Given the description of an element on the screen output the (x, y) to click on. 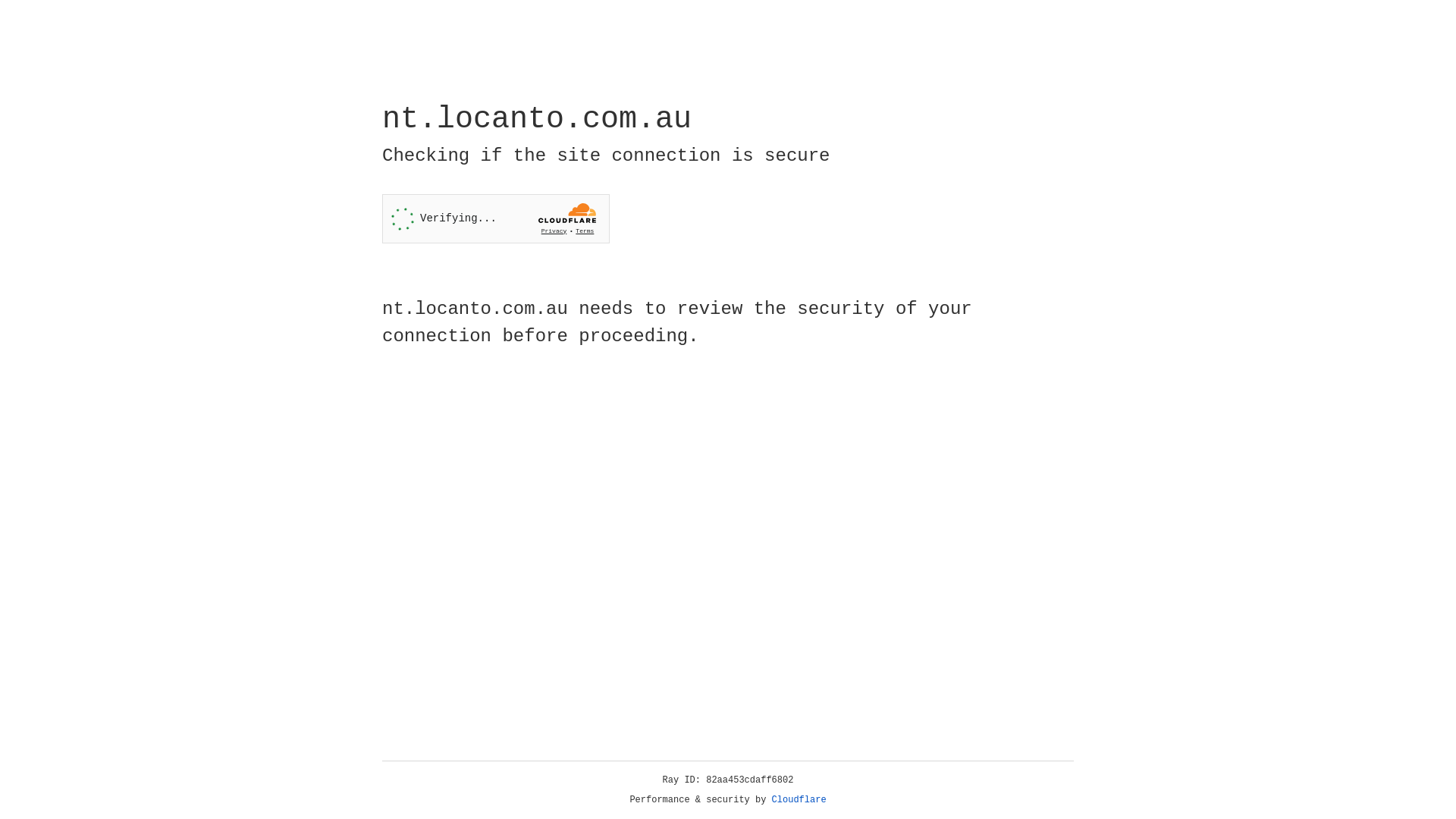
Widget containing a Cloudflare security challenge Element type: hover (495, 218)
Cloudflare Element type: text (798, 799)
